Given the description of an element on the screen output the (x, y) to click on. 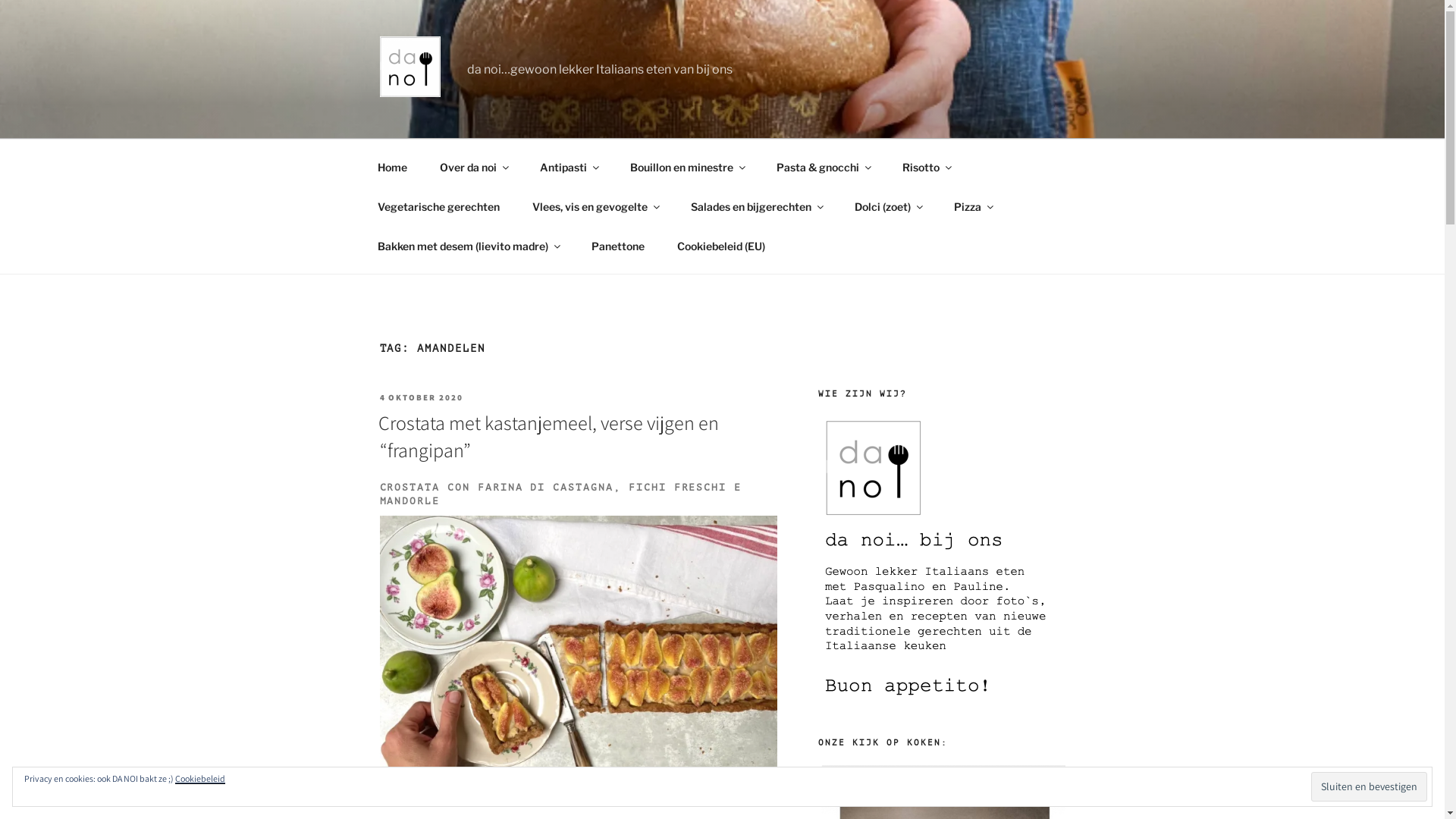
Dolci (zoet) Element type: text (888, 205)
4 OKTOBER 2020 Element type: text (421, 397)
Bouillon en minestre Element type: text (687, 166)
Cookiebeleid (EU) Element type: text (721, 245)
Bakken met desem (lievito madre) Element type: text (467, 245)
Salades en bijgerechten Element type: text (756, 205)
Pasta & gnocchi Element type: text (822, 166)
Vegetarische gerechten Element type: text (438, 205)
Cookiebeleid Element type: text (200, 778)
Over da noi Element type: text (473, 166)
Pizza Element type: text (972, 205)
Home Element type: text (392, 166)
Sluiten en bevestigen Element type: text (1369, 786)
Antipasti Element type: text (568, 166)
Panettone Element type: text (617, 245)
Risotto Element type: text (925, 166)
Vlees, vis en gevogelte Element type: text (594, 205)
